Given the description of an element on the screen output the (x, y) to click on. 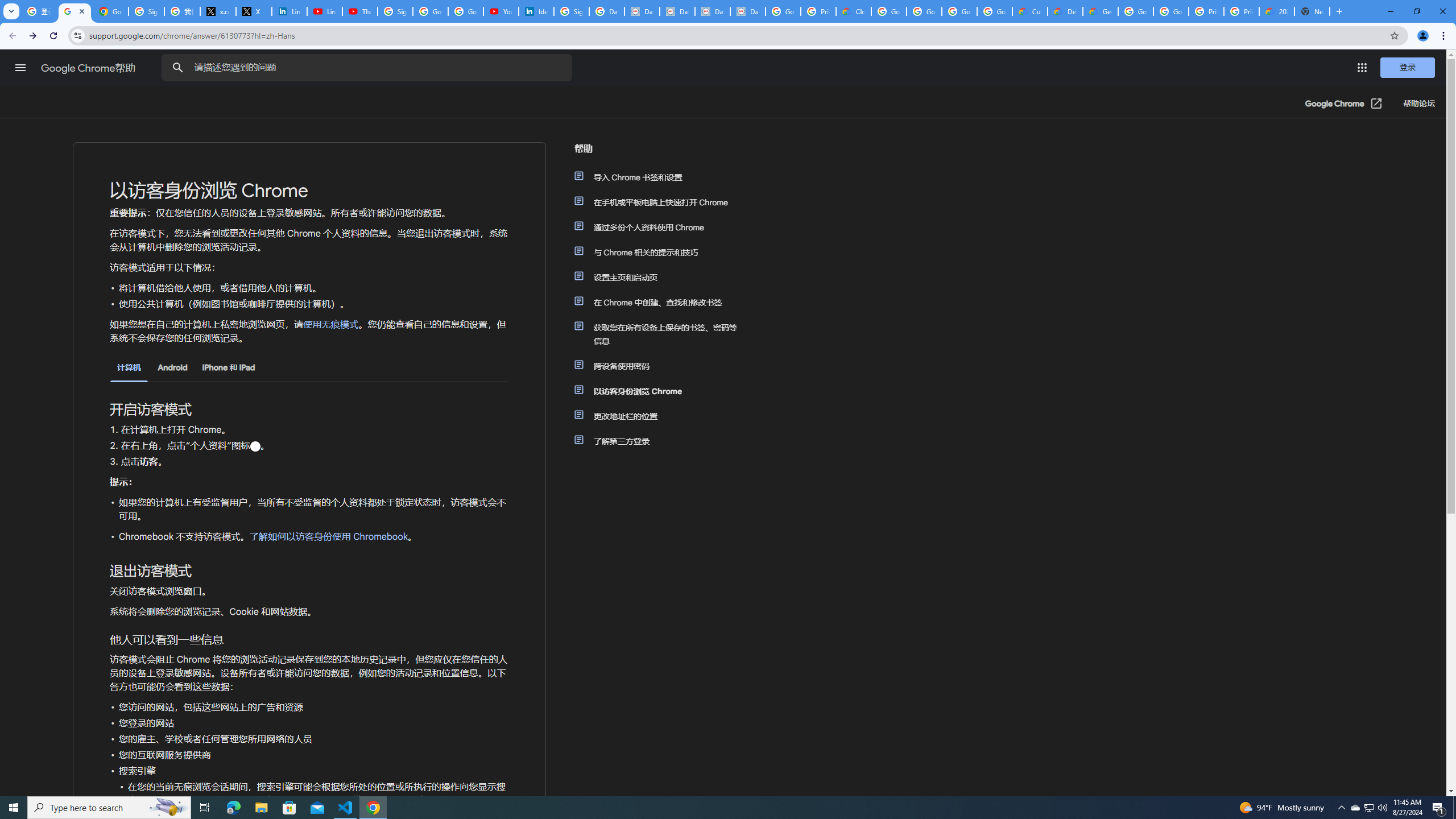
New Tab (1312, 11)
Data Privacy Framework (747, 11)
Sign in - Google Accounts (394, 11)
Data Privacy Framework (712, 11)
